Given the description of an element on the screen output the (x, y) to click on. 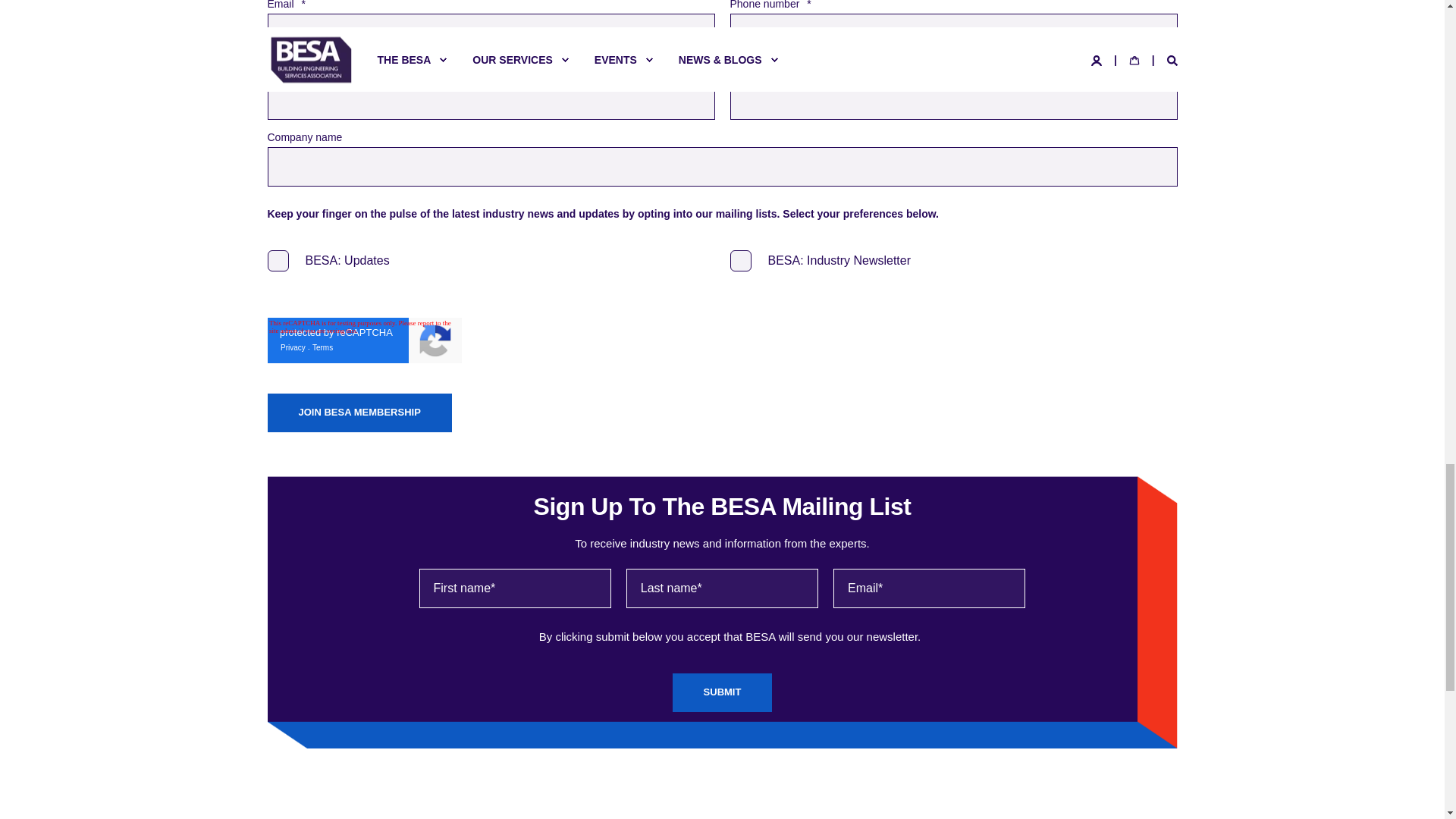
Submit (722, 692)
Join BESA Membership (358, 412)
reCAPTCHA (363, 340)
